Given the description of an element on the screen output the (x, y) to click on. 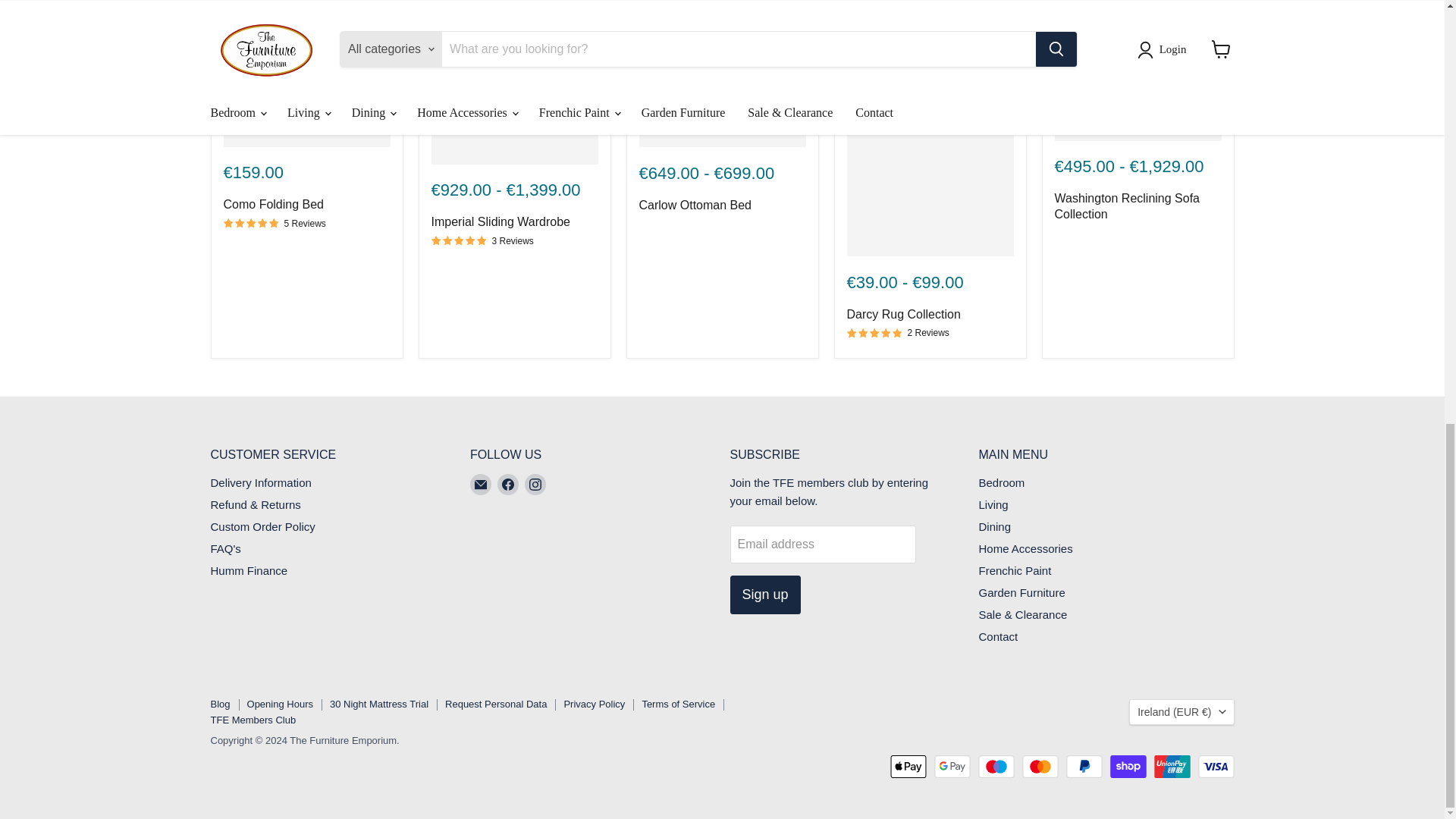
Instagram (535, 484)
Facebook (507, 484)
Email (481, 484)
